Given the description of an element on the screen output the (x, y) to click on. 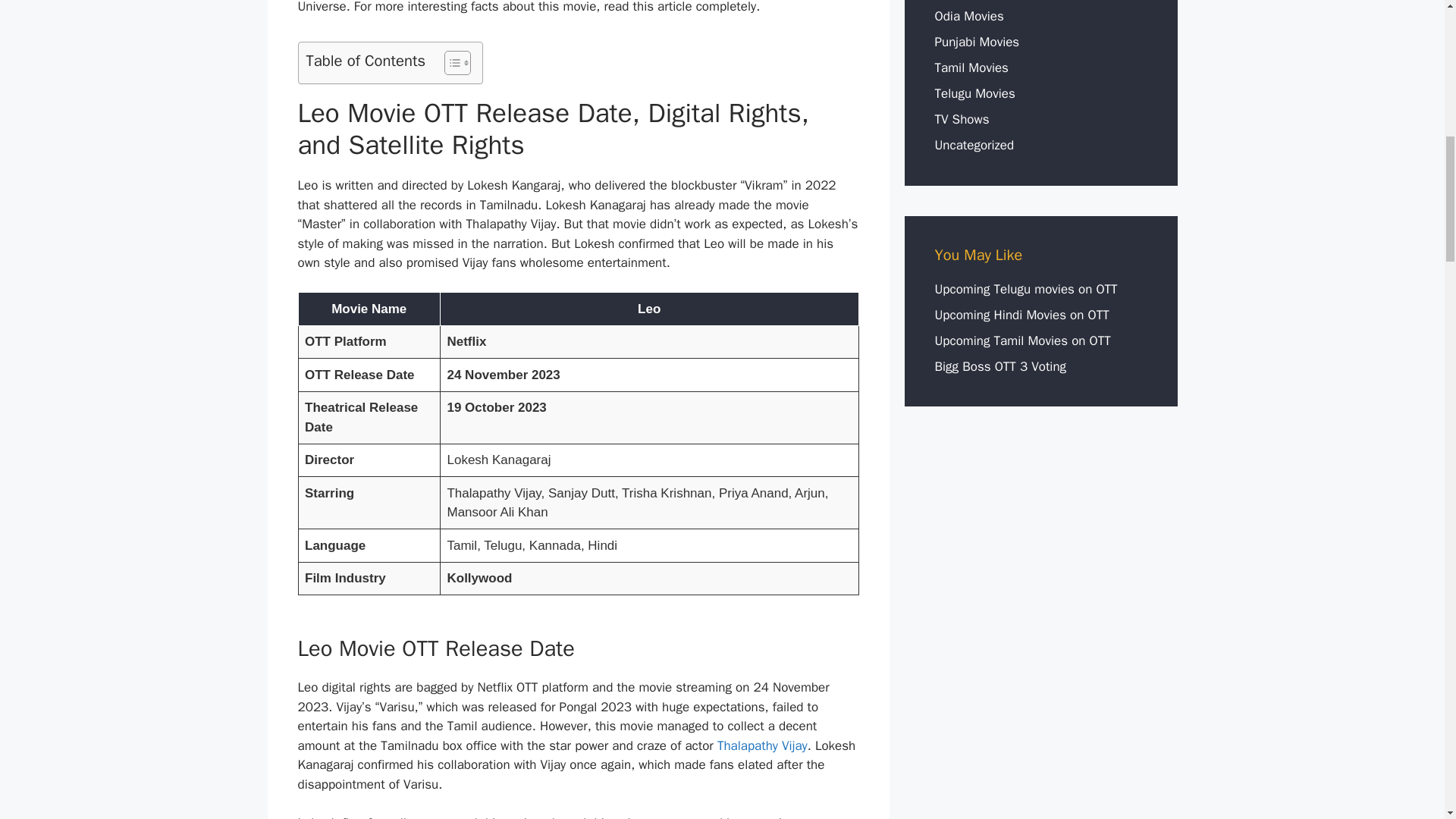
Thalapathy Vijay (762, 745)
